Given the description of an element on the screen output the (x, y) to click on. 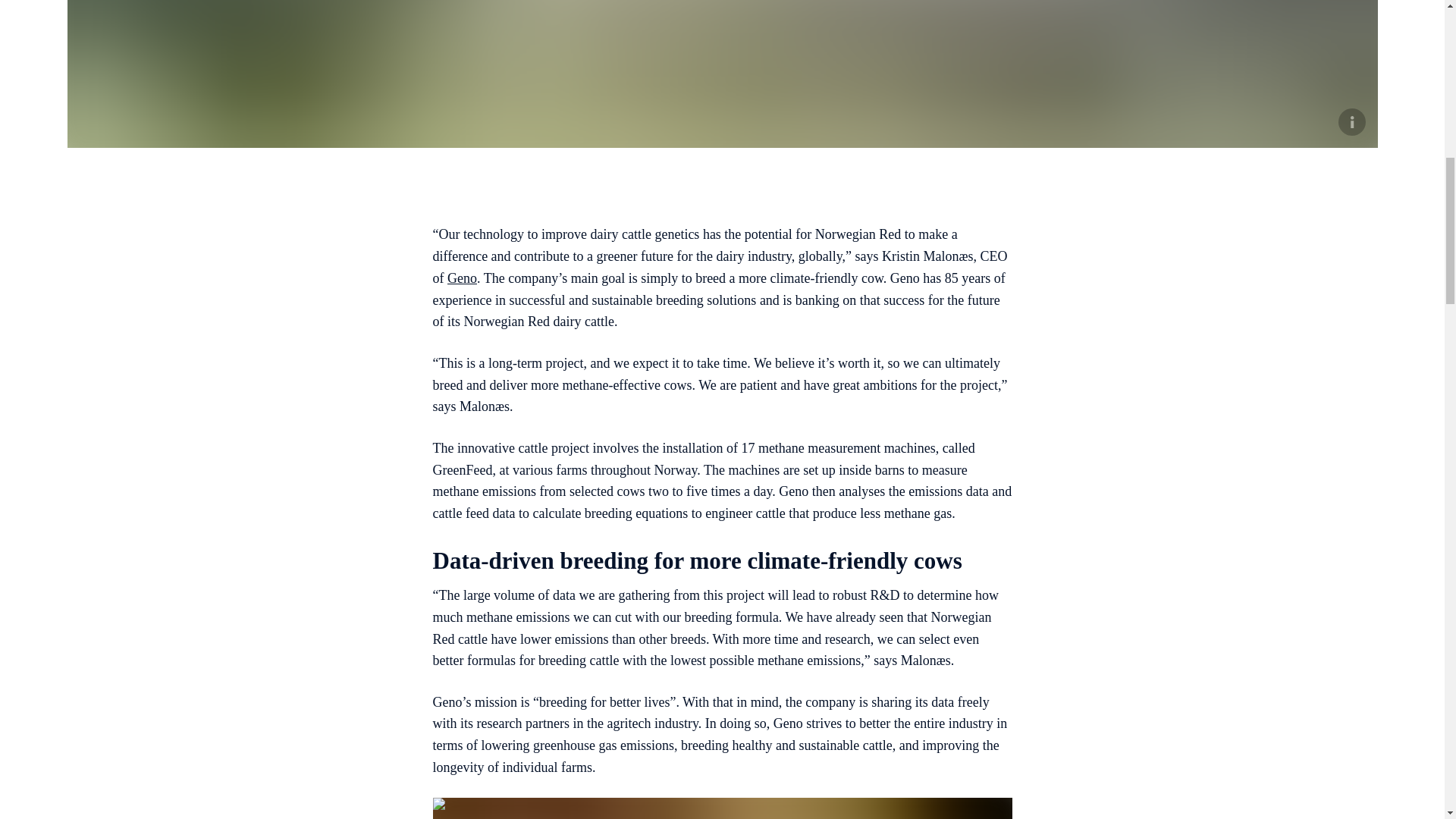
Geno (461, 278)
